Given the description of an element on the screen output the (x, y) to click on. 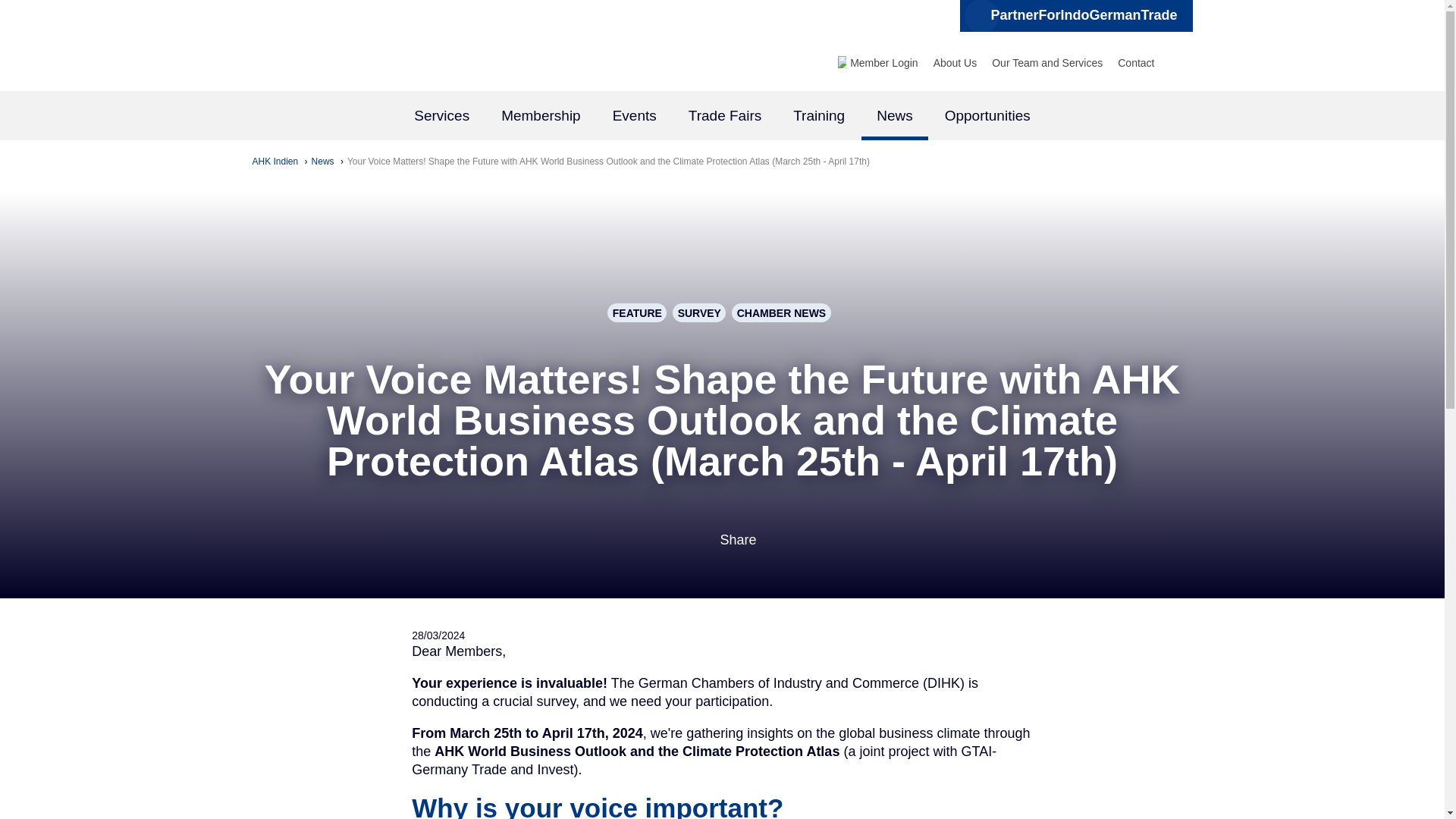
Hashtag (1075, 15)
News (323, 161)
Contact (1136, 62)
PartnerForIndoGermanTrade (1075, 15)
suchen (1177, 61)
Member Login (884, 62)
Our Team and Services (1046, 62)
AHK Indien (275, 161)
About Us (954, 62)
Main (721, 117)
